Given the description of an element on the screen output the (x, y) to click on. 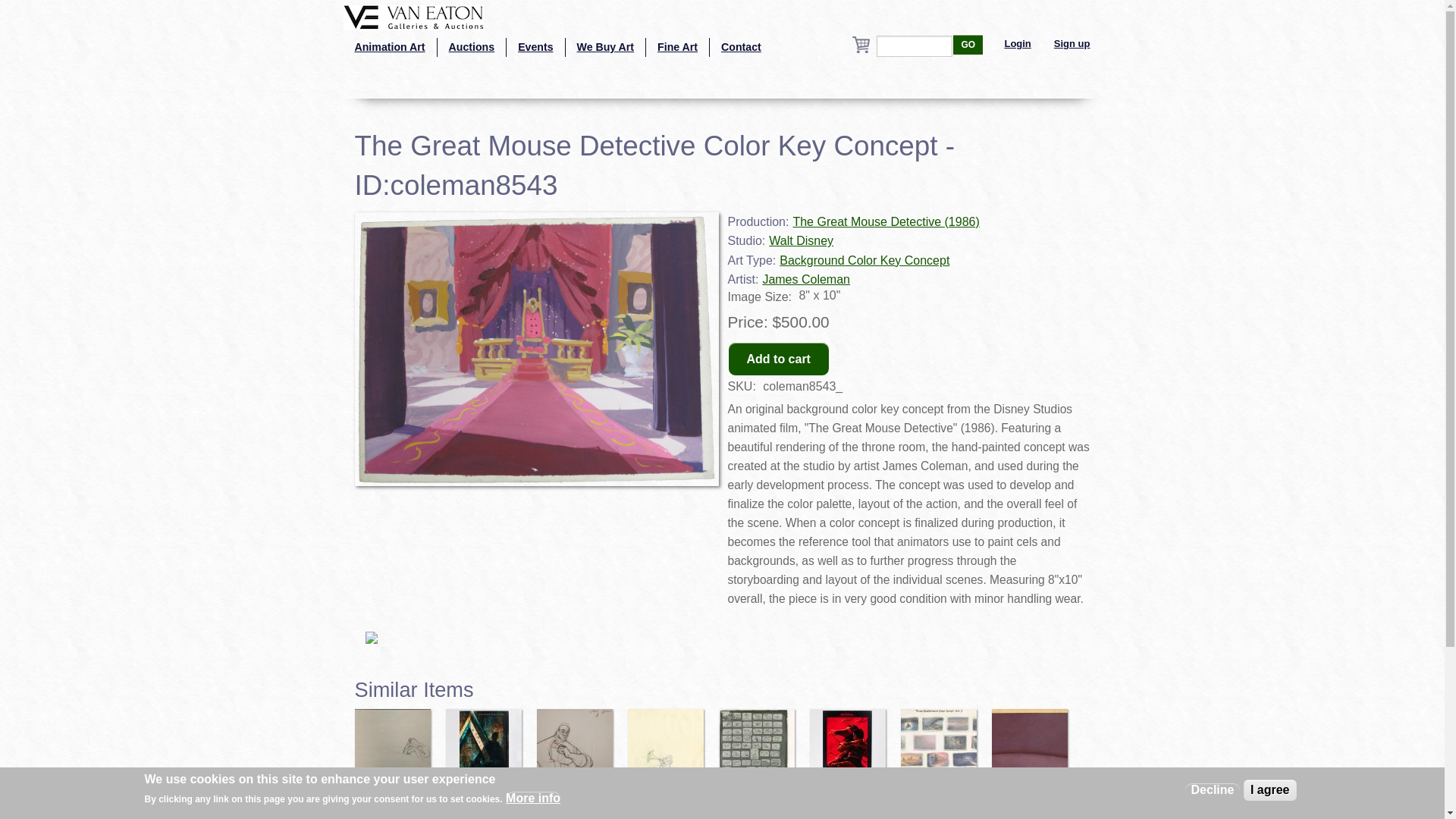
Walt Disney (800, 240)
Home (412, 15)
Sign up (1072, 43)
Fine Art (677, 46)
GO (968, 44)
Events (535, 46)
Auctions (472, 46)
Background Color Key Concept (863, 259)
Animation Art (388, 46)
Contact (741, 46)
We Buy Art (606, 46)
Login (1017, 43)
James Coleman (805, 278)
